Given the description of an element on the screen output the (x, y) to click on. 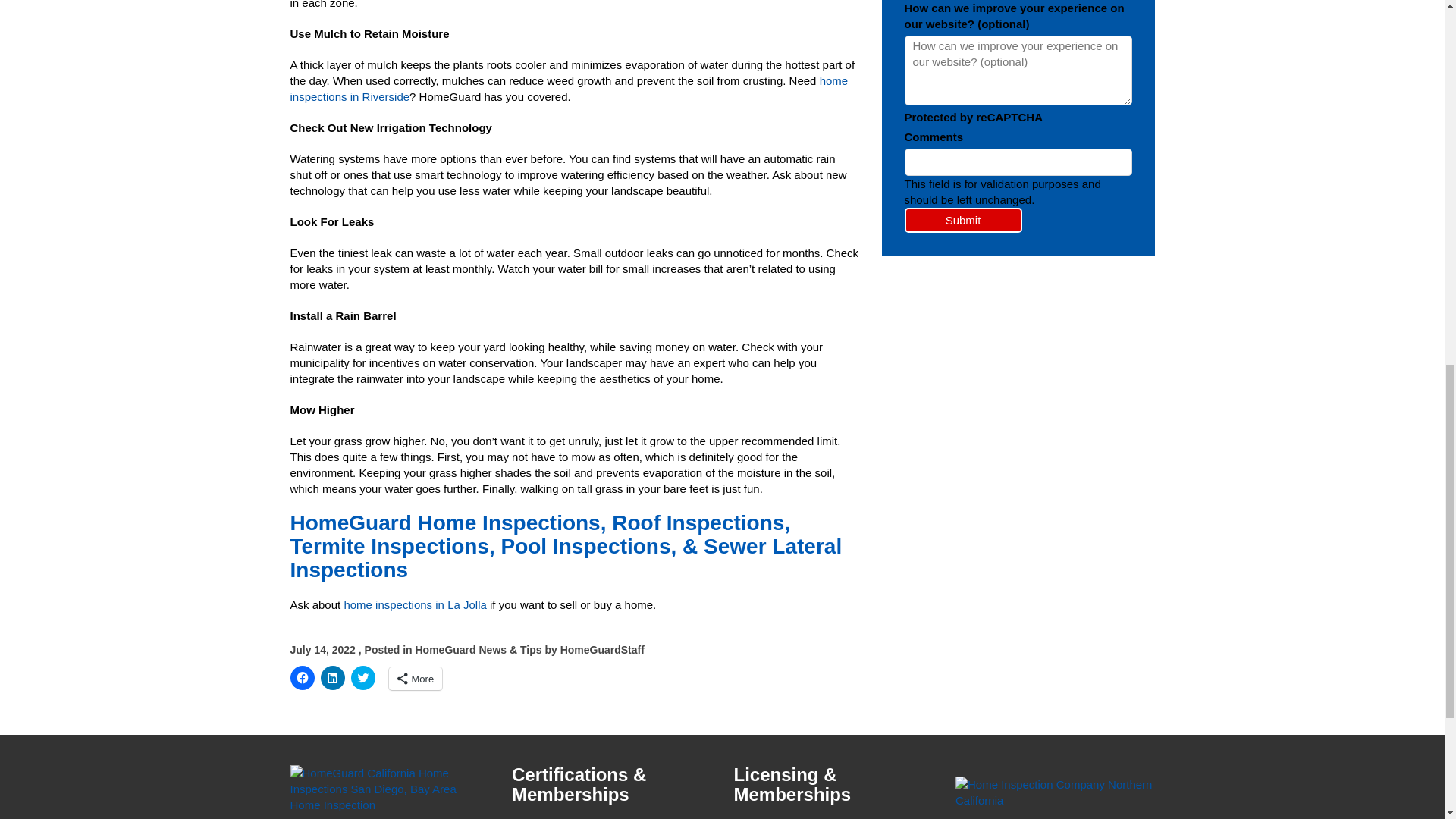
Click to share on LinkedIn (331, 677)
Click to share on Twitter (362, 677)
Posts by HomeGuardStaff (602, 649)
Click to share on Facebook (301, 677)
Submit (963, 220)
